Given the description of an element on the screen output the (x, y) to click on. 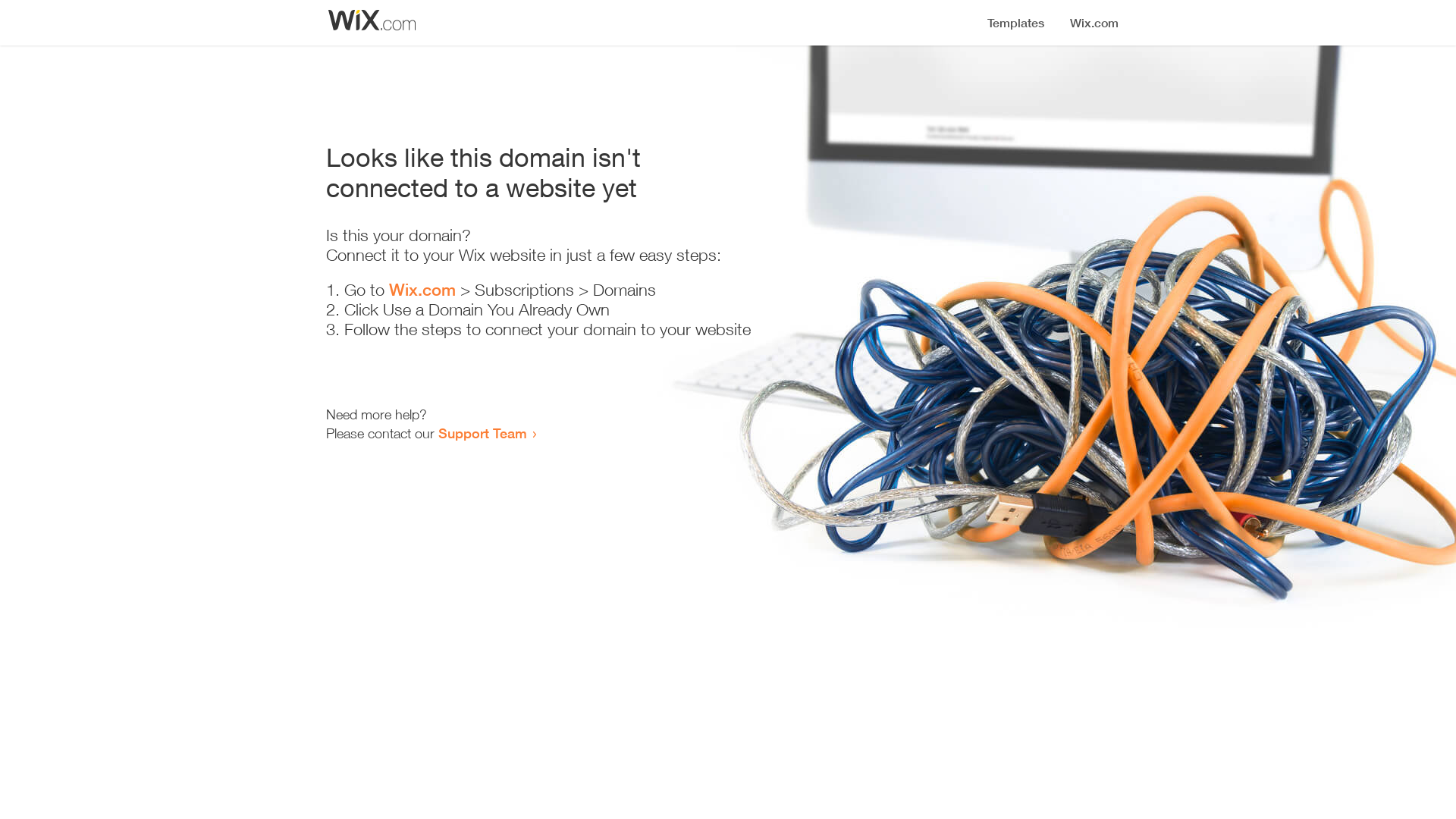
Wix.com Element type: text (422, 289)
Support Team Element type: text (482, 432)
